Given the description of an element on the screen output the (x, y) to click on. 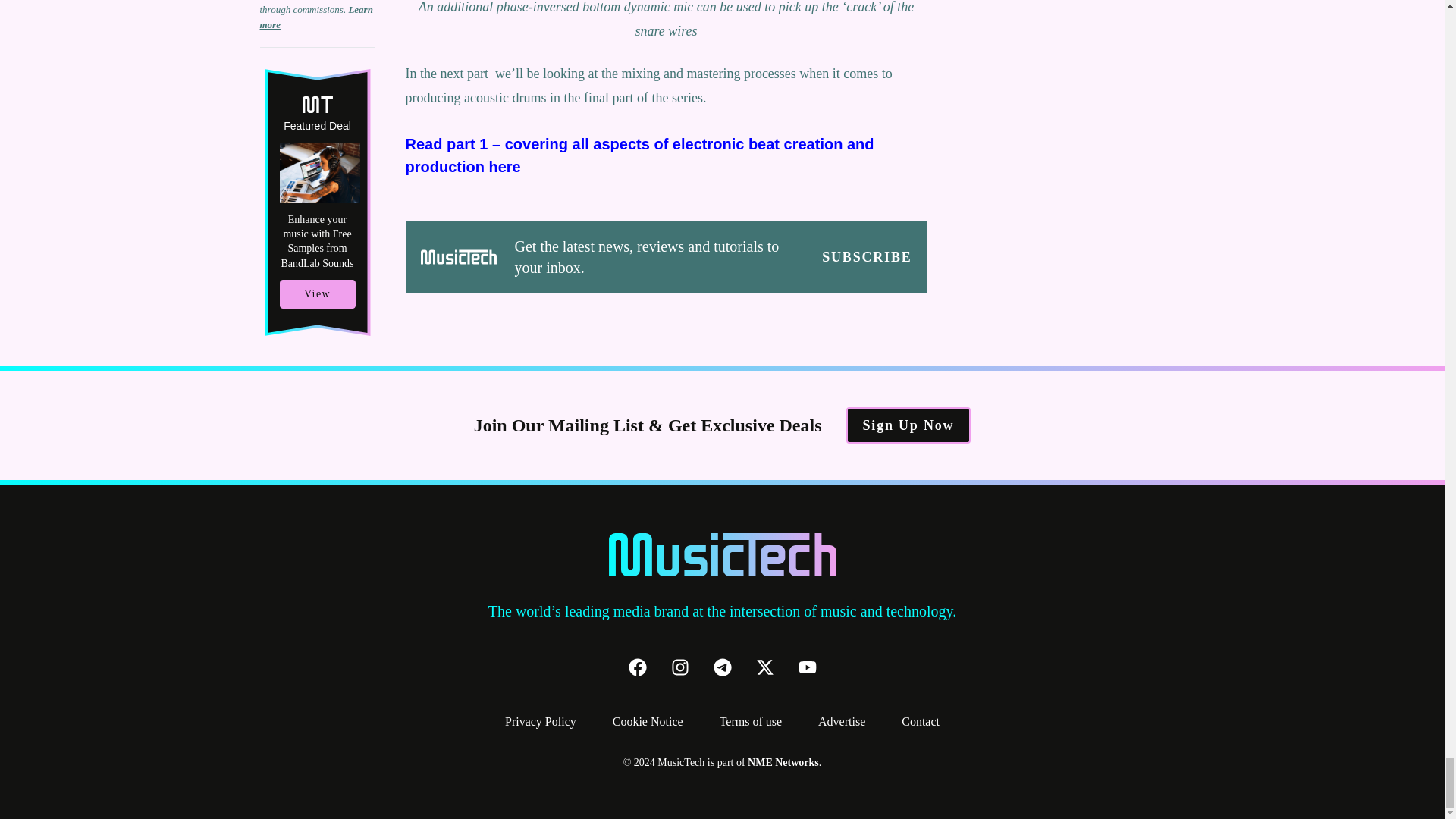
SUBSCRIBE (866, 256)
Join our mailing list (866, 256)
